Given the description of an element on the screen output the (x, y) to click on. 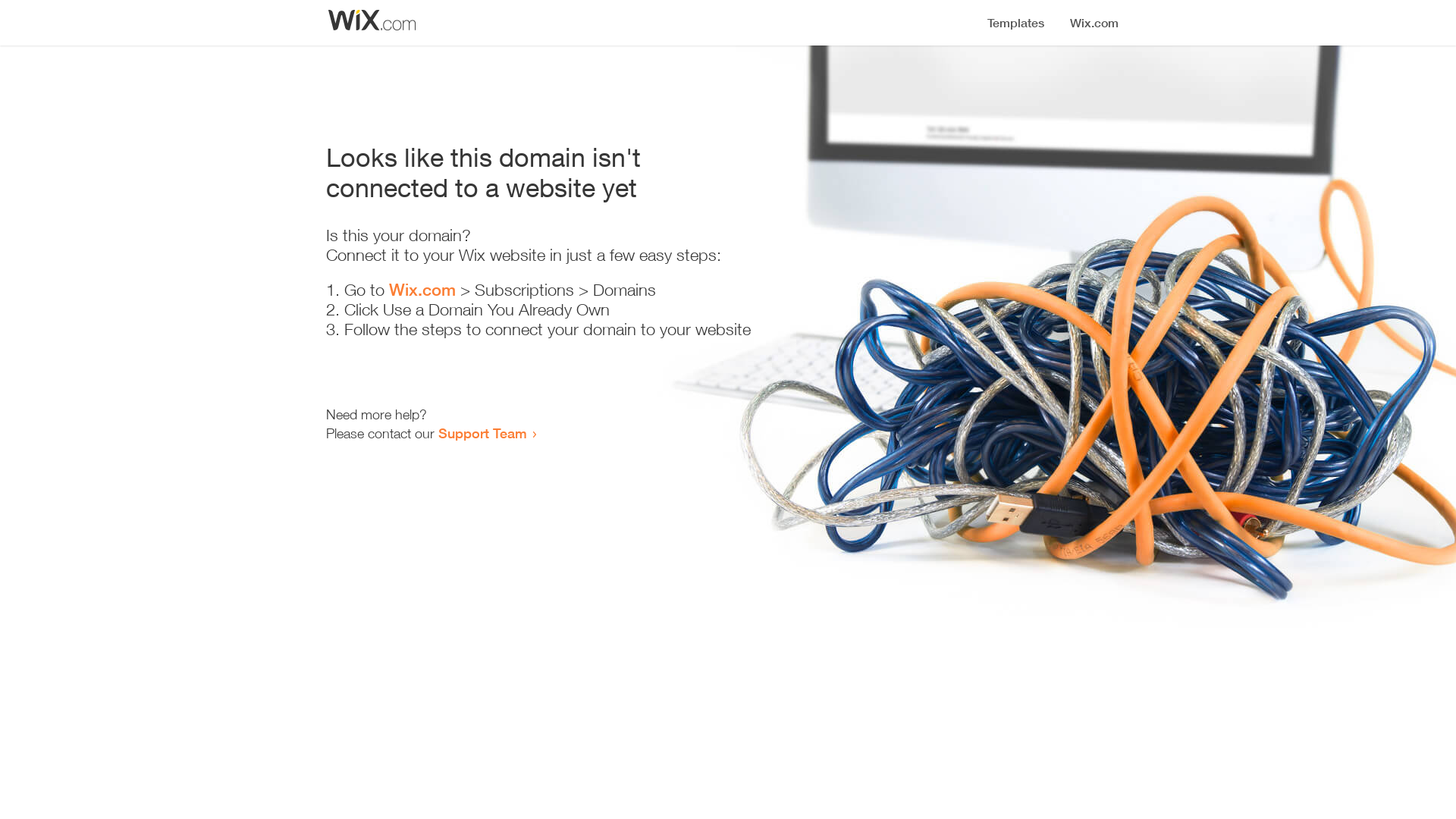
Wix.com Element type: text (422, 289)
Support Team Element type: text (482, 432)
